Given the description of an element on the screen output the (x, y) to click on. 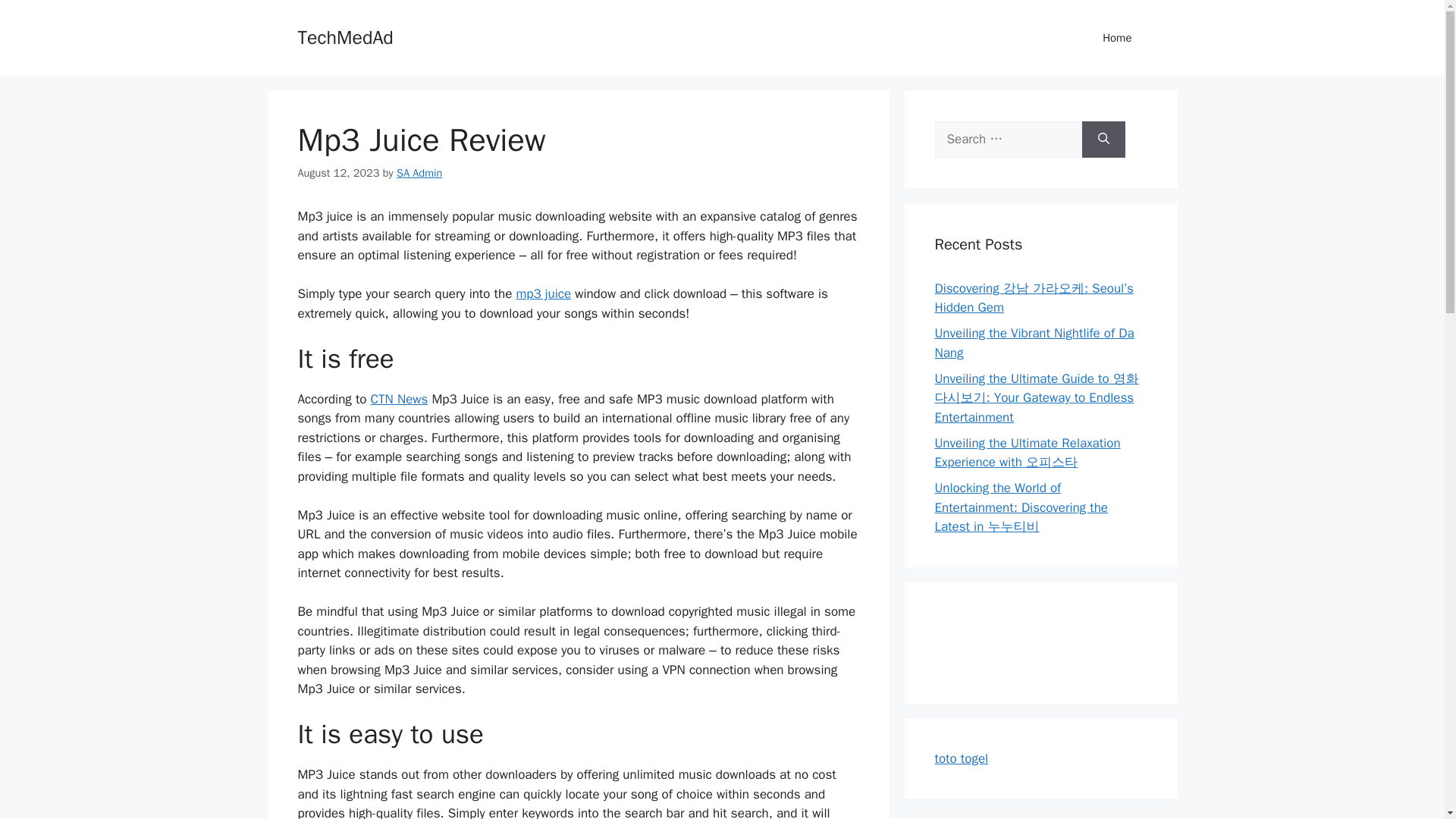
TechMedAd (345, 37)
Search for: (1007, 139)
toto togel (961, 758)
mp3 juice (542, 293)
Home (1117, 37)
CTN News (399, 399)
Unveiling the Vibrant Nightlife of Da Nang (1034, 343)
SA Admin (419, 172)
View all posts by SA Admin (419, 172)
